Given the description of an element on the screen output the (x, y) to click on. 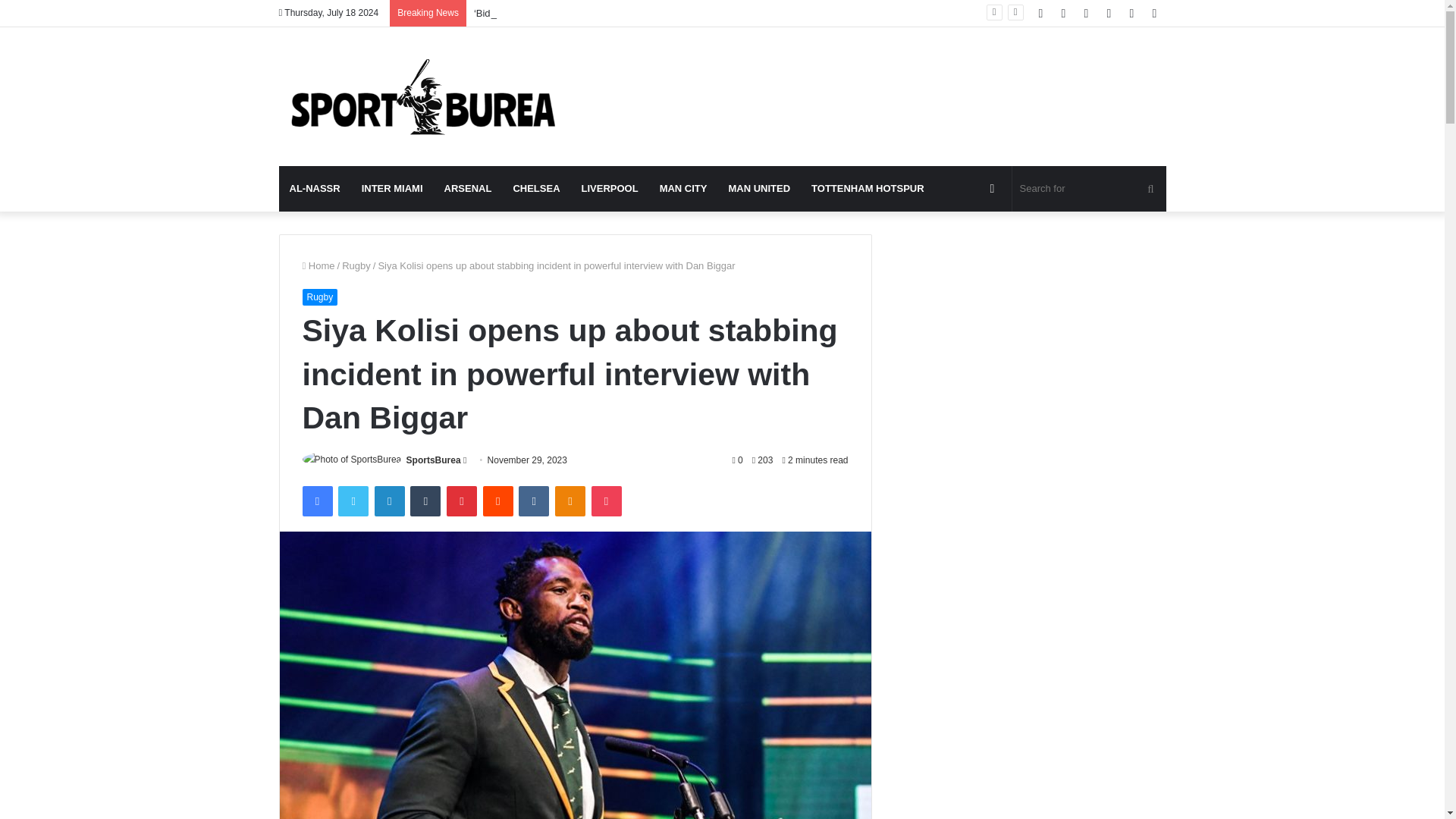
CHELSEA (536, 188)
LinkedIn (389, 501)
Rugby (319, 297)
Reddit (498, 501)
Twitter (352, 501)
Rugby (356, 265)
Facebook (316, 501)
VKontakte (533, 501)
AL-NASSR (314, 188)
SportsBurea (433, 460)
Facebook (316, 501)
Twitter (352, 501)
Odnoklassniki (569, 501)
SportsBurea (433, 460)
INTER MIAMI (391, 188)
